Given the description of an element on the screen output the (x, y) to click on. 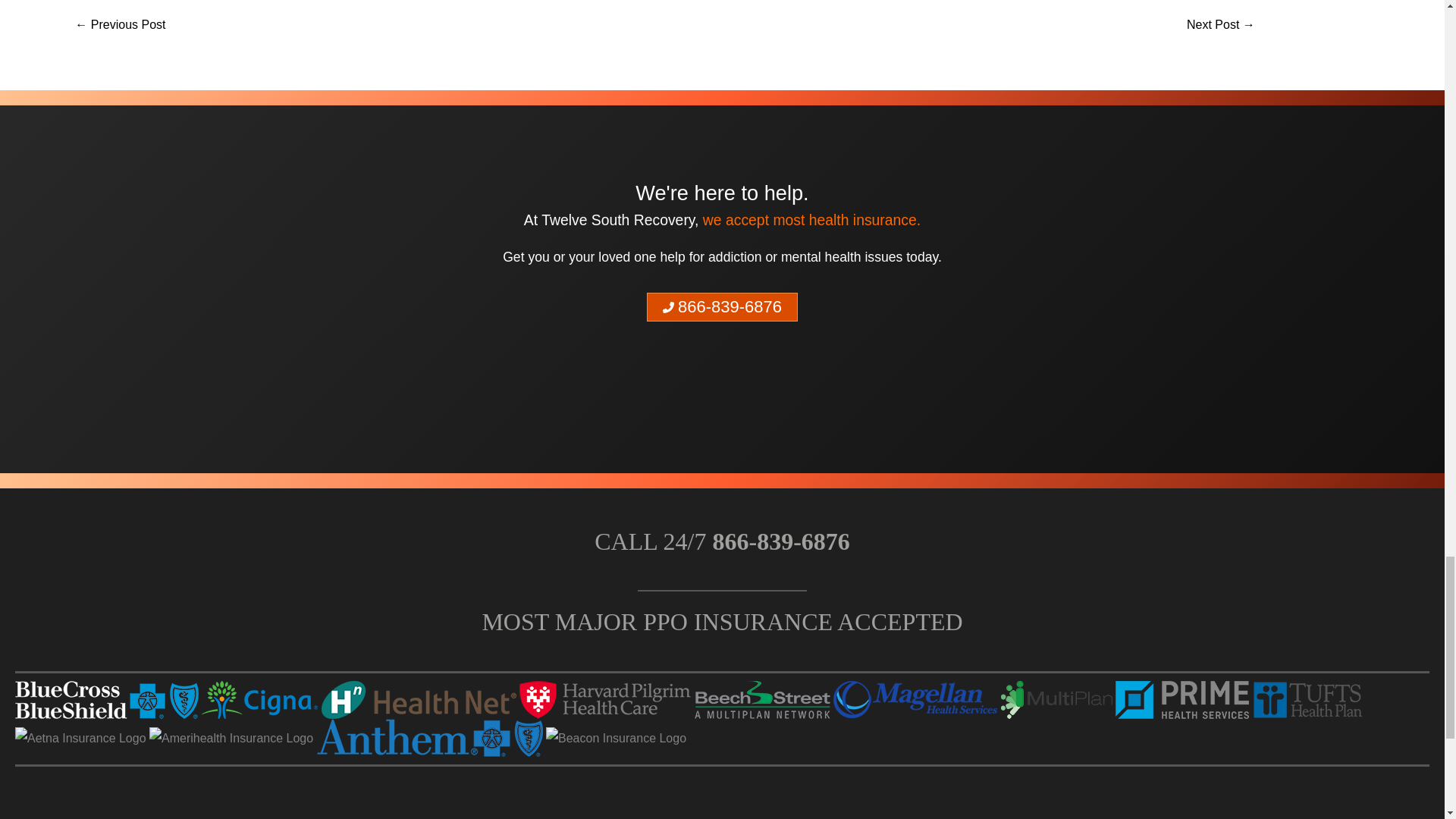
Does Trauma Inform Substance Use Disorder? (1220, 26)
